Given the description of an element on the screen output the (x, y) to click on. 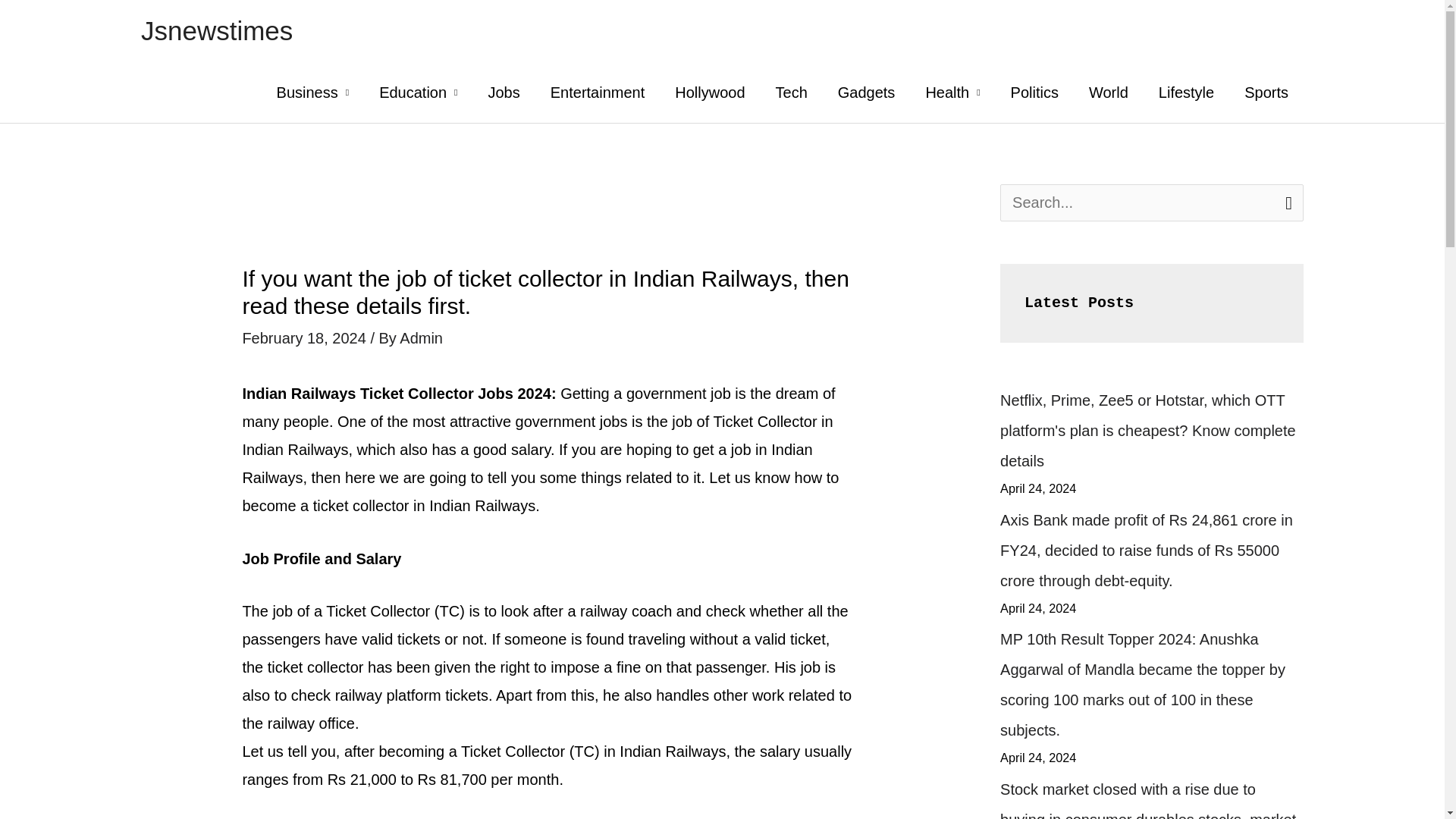
Entertainment (598, 92)
Search (1286, 201)
World (1108, 92)
Education (417, 92)
Search (1286, 201)
Jsnewstimes (216, 30)
Politics (1034, 92)
Health (952, 92)
Tech (791, 92)
Business (313, 92)
Sports (1265, 92)
